Given the description of an element on the screen output the (x, y) to click on. 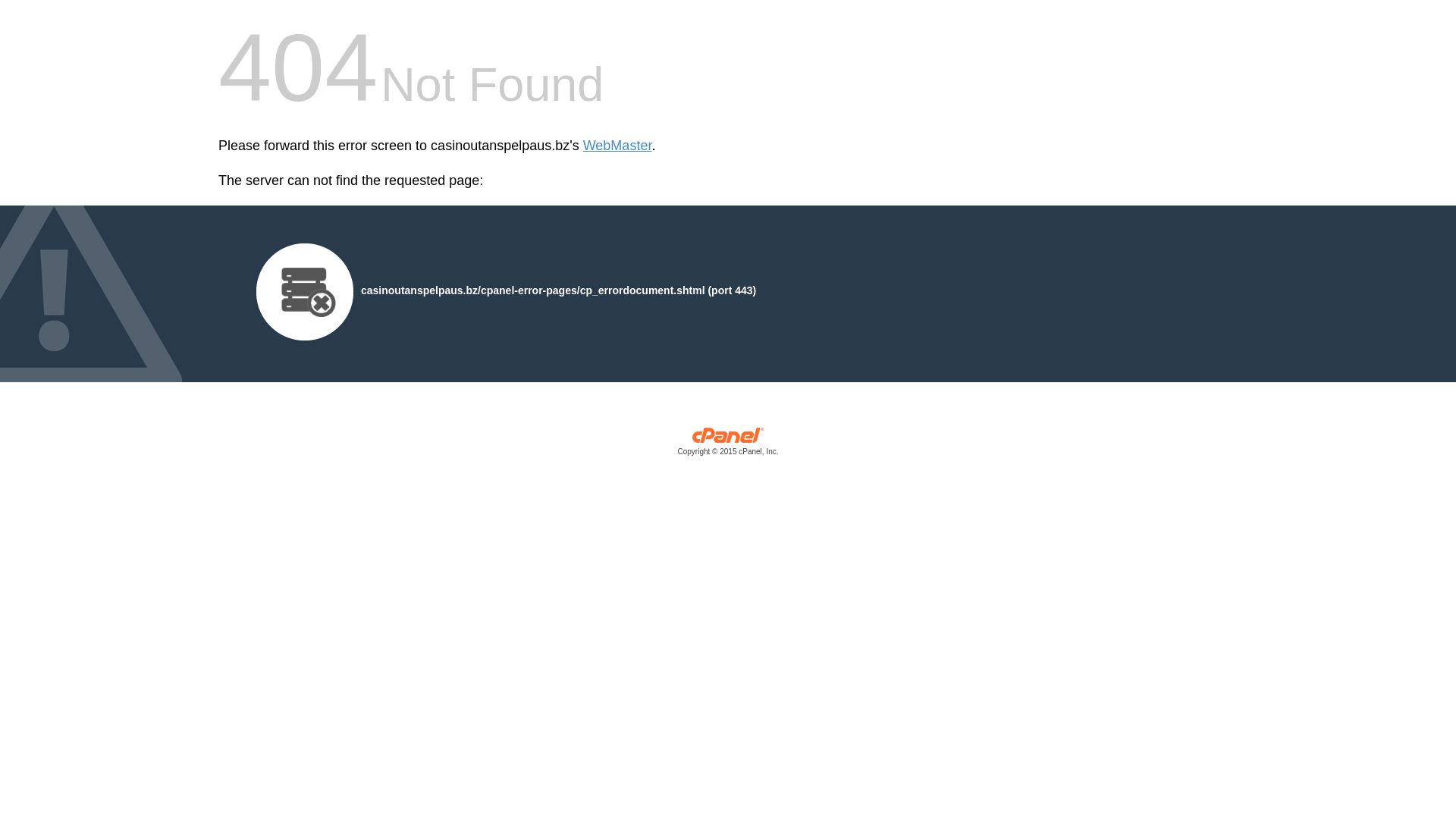
WebMaster Element type: text (617, 145)
